Given the description of an element on the screen output the (x, y) to click on. 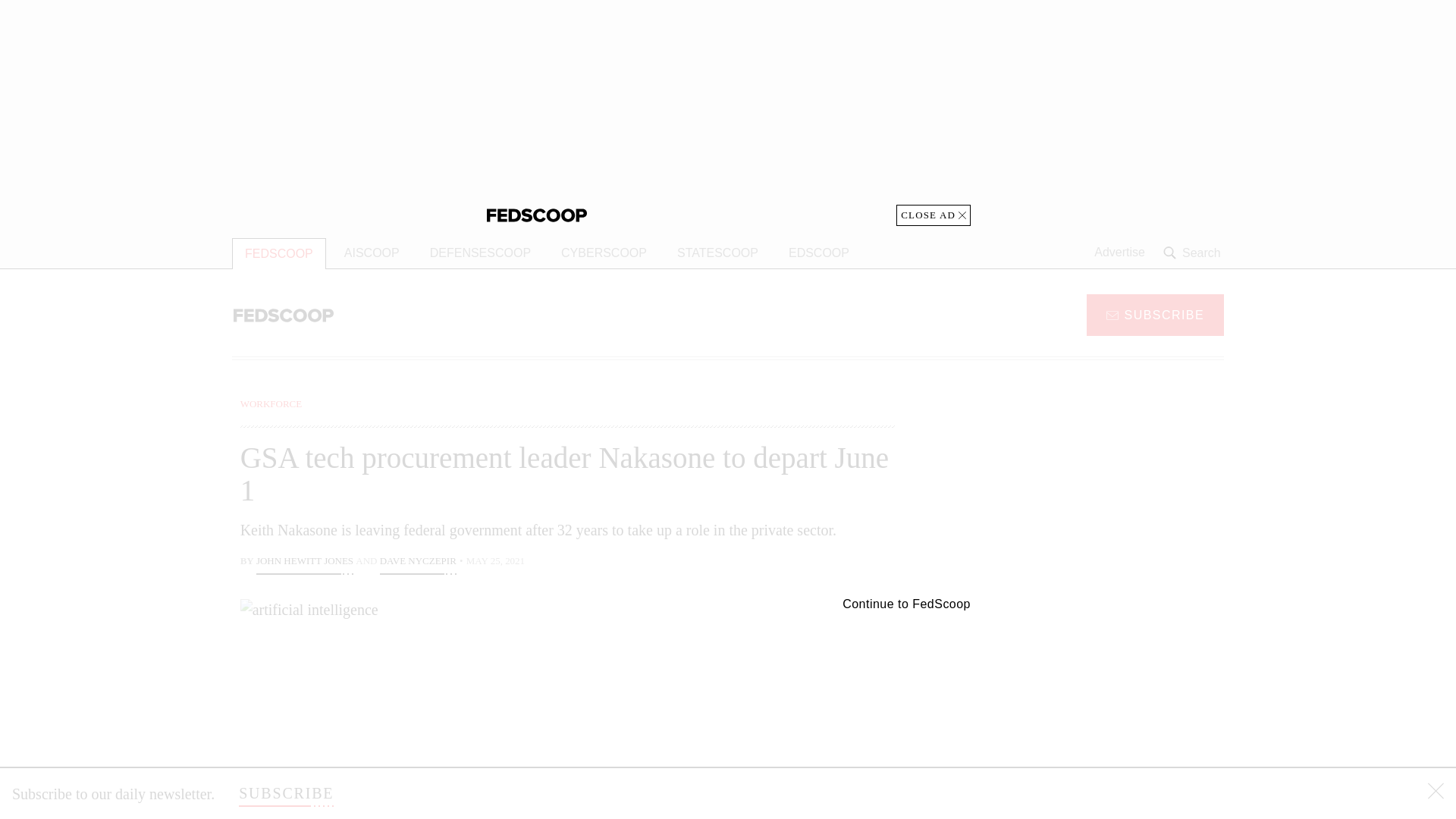
JOHN HEWITT JONES (304, 562)
Dave Nyczepir (418, 562)
AISCOOP (371, 253)
3rd party ad content (1101, 705)
CYBERSCOOP (603, 253)
Search (1193, 252)
John Hewitt Jones (304, 562)
Advertise (1119, 252)
FEDSCOOP (278, 253)
3rd party ad content (1101, 491)
WORKFORCE (271, 403)
EDSCOOP (818, 253)
SUBSCRIBE (285, 793)
